Given the description of an element on the screen output the (x, y) to click on. 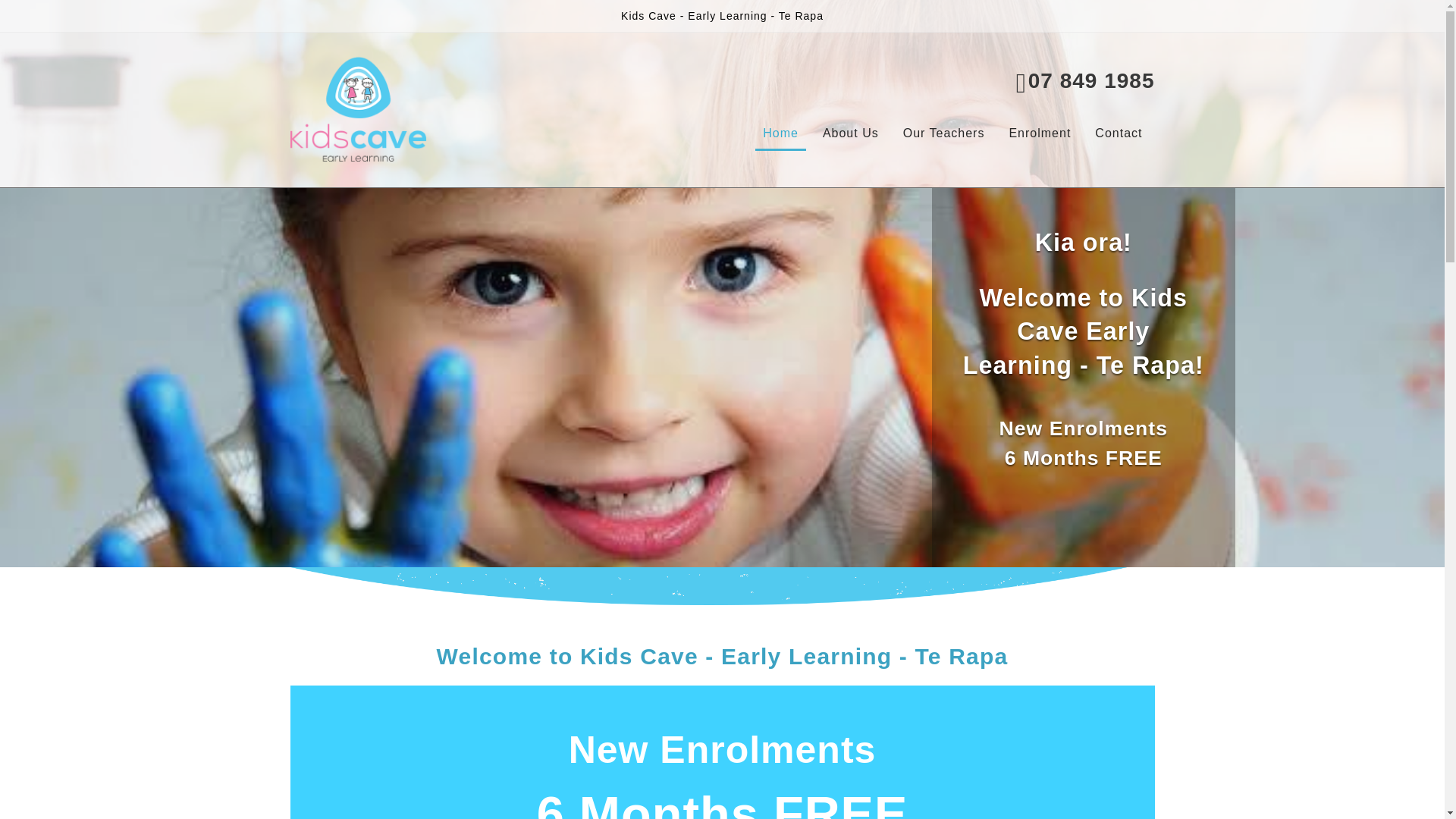
About Us (850, 133)
07 849 1985 (1085, 79)
Our Teachers (943, 133)
Enrolment (1039, 133)
Kids Cave - Early Learning - Te Rapa (722, 15)
Contact (1117, 133)
Home (779, 133)
